Given the description of an element on the screen output the (x, y) to click on. 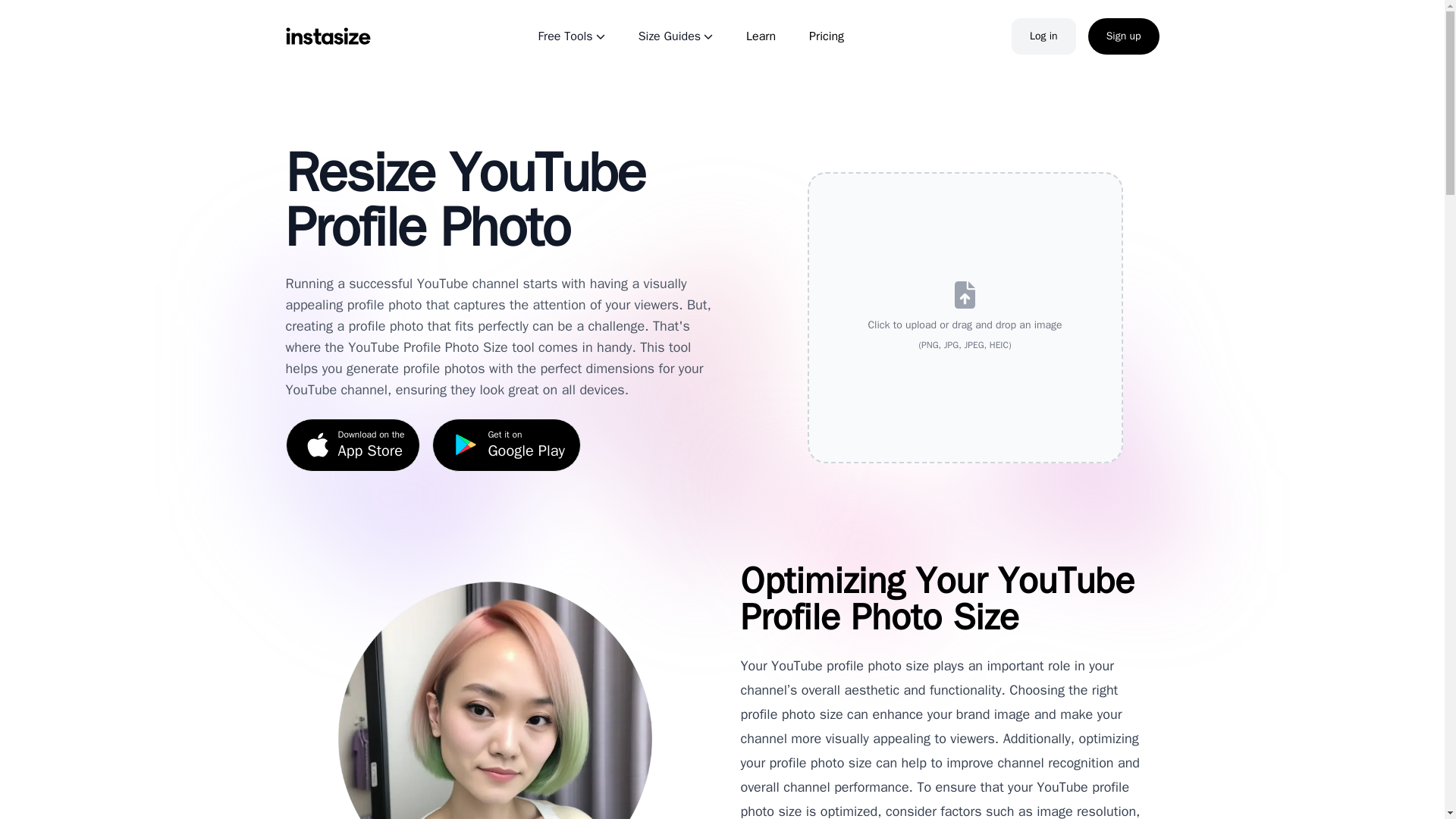
Pricing (352, 444)
Log in (506, 444)
Sign up (826, 35)
Learn (1043, 36)
